Given the description of an element on the screen output the (x, y) to click on. 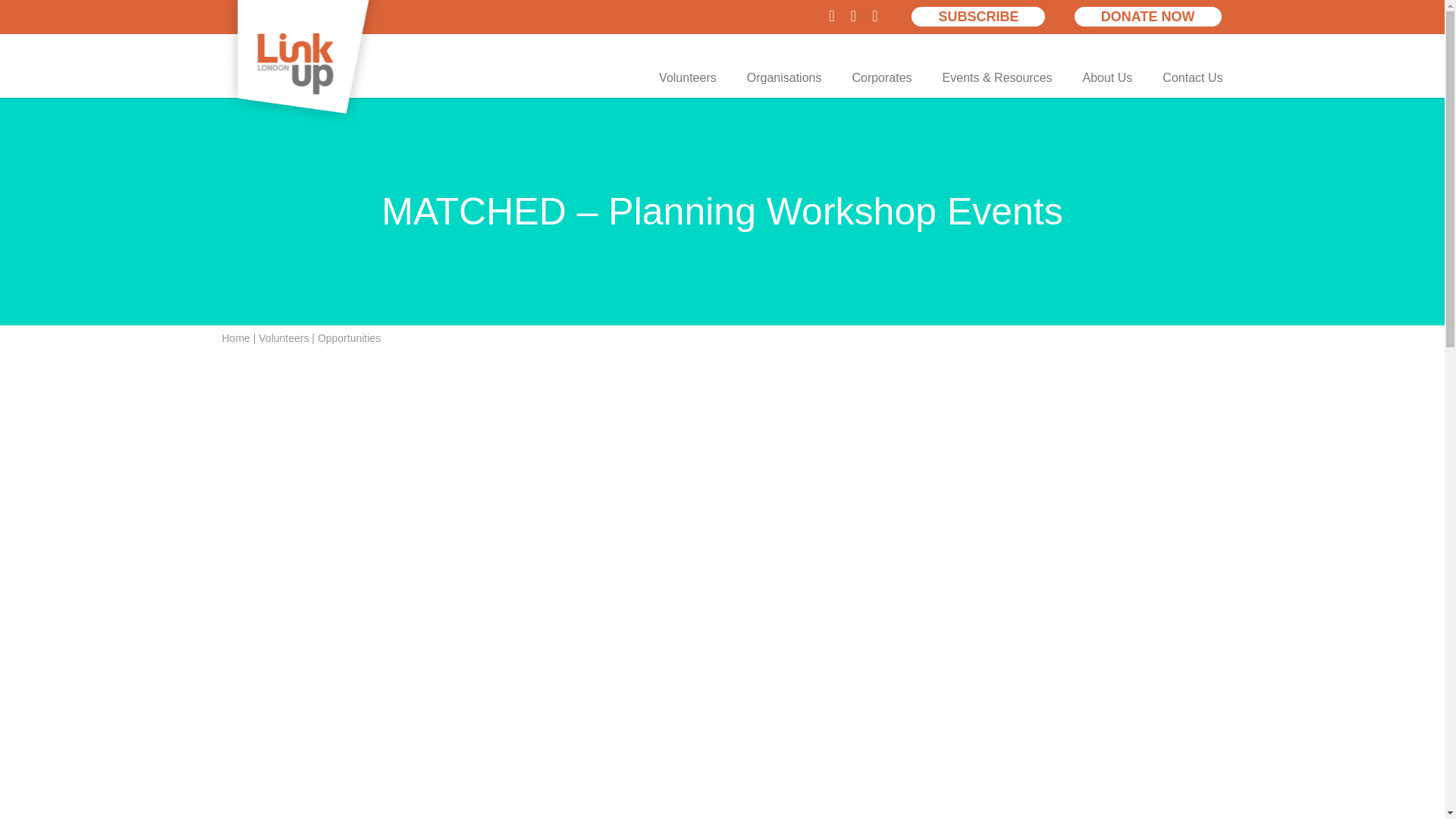
Volunteers (283, 337)
Home (234, 337)
Organisations (784, 77)
SUBSCRIBE (978, 15)
Opportunities (348, 337)
Corporates (881, 77)
About Us (1107, 77)
Contact Us (1192, 77)
Volunteers (687, 77)
DONATE NOW (1148, 15)
